Given the description of an element on the screen output the (x, y) to click on. 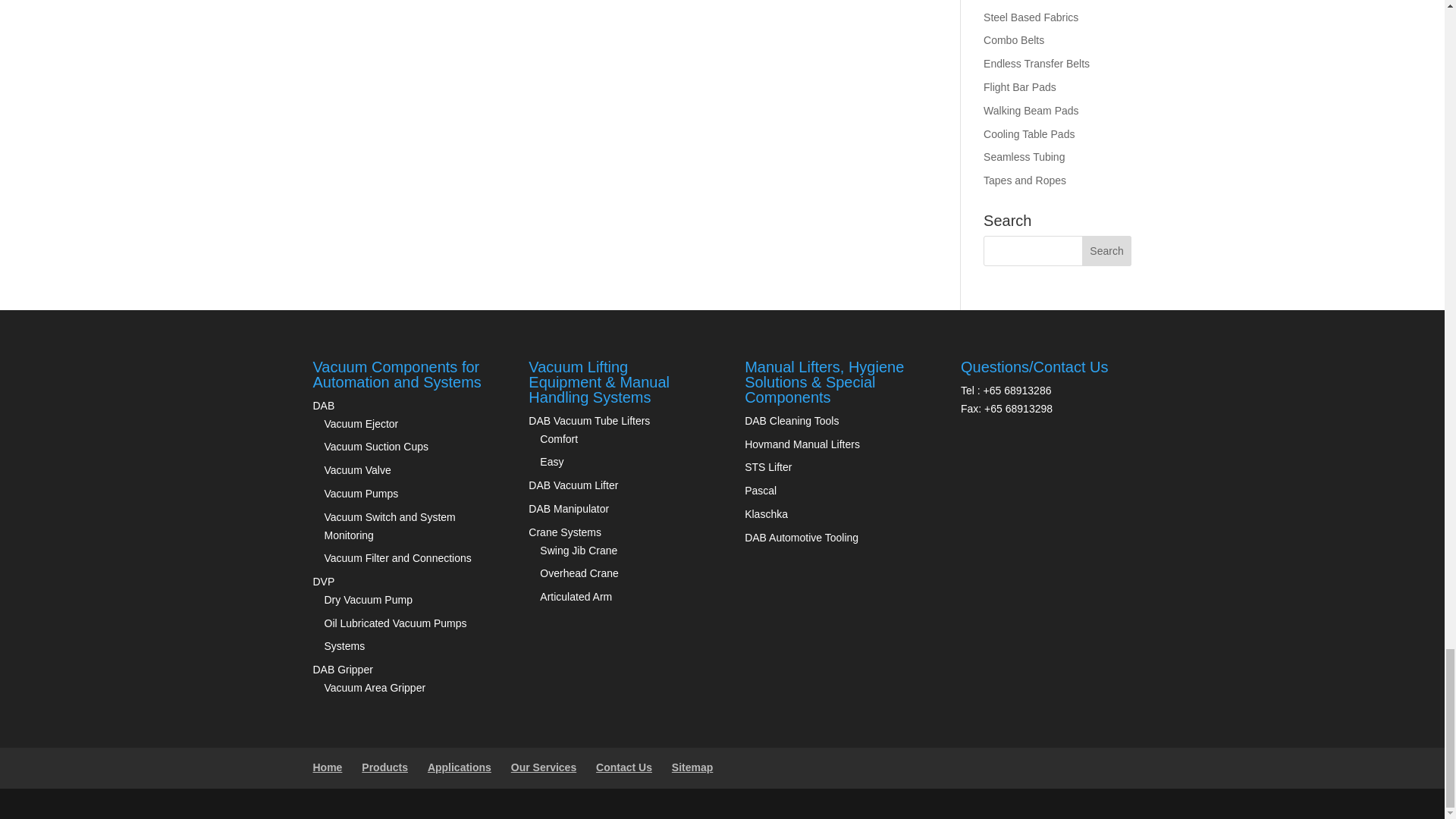
Search (1106, 250)
